Given the description of an element on the screen output the (x, y) to click on. 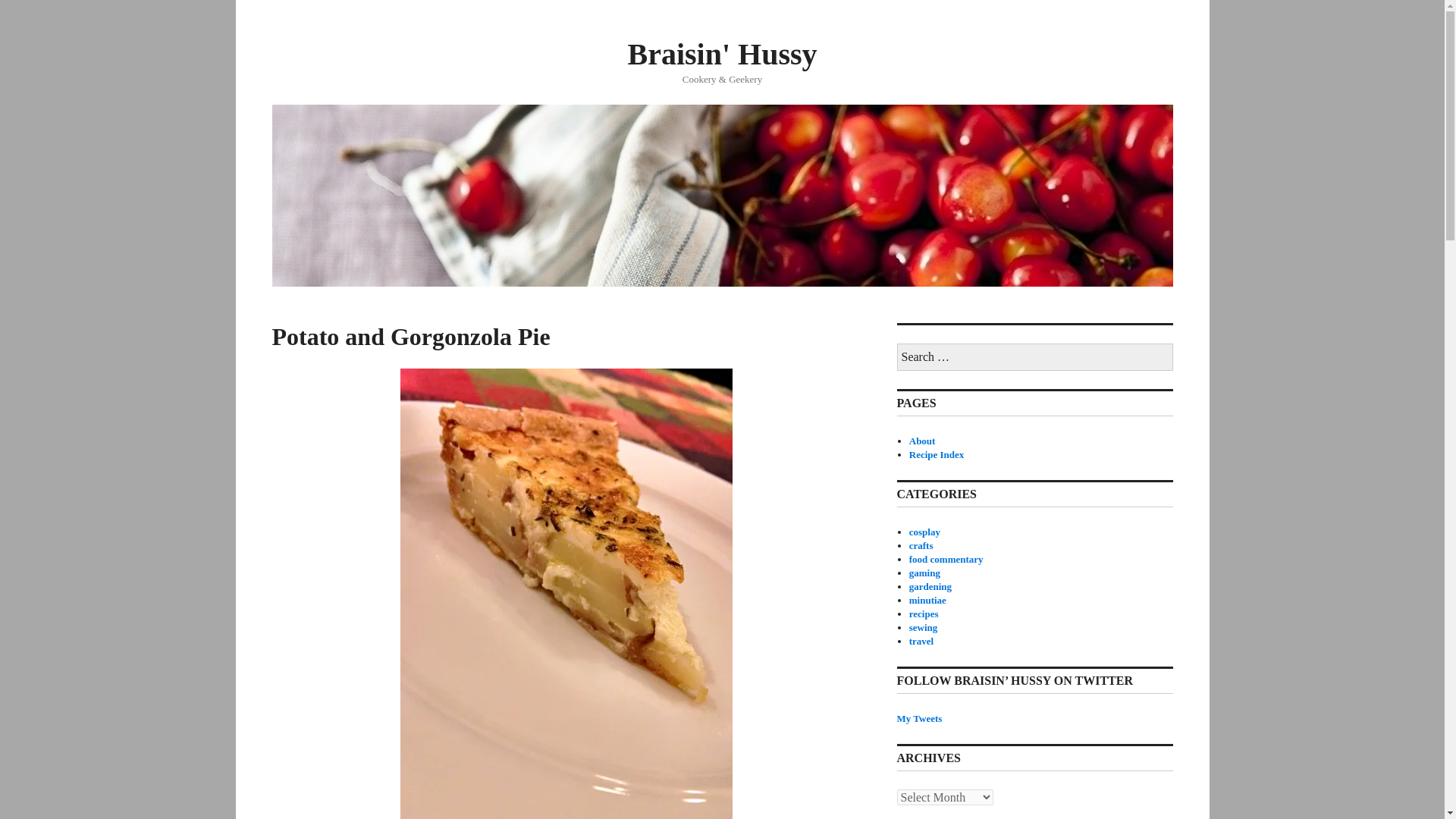
crafts (920, 545)
recipes (923, 613)
Recipe Index (935, 454)
About (922, 440)
cosplay (924, 531)
minutiae (927, 600)
gaming (924, 572)
My Tweets (919, 717)
travel (920, 641)
Search (8, 4)
gardening (930, 586)
Braisin' Hussy (721, 53)
food commentary (946, 559)
sewing (922, 627)
